Given the description of an element on the screen output the (x, y) to click on. 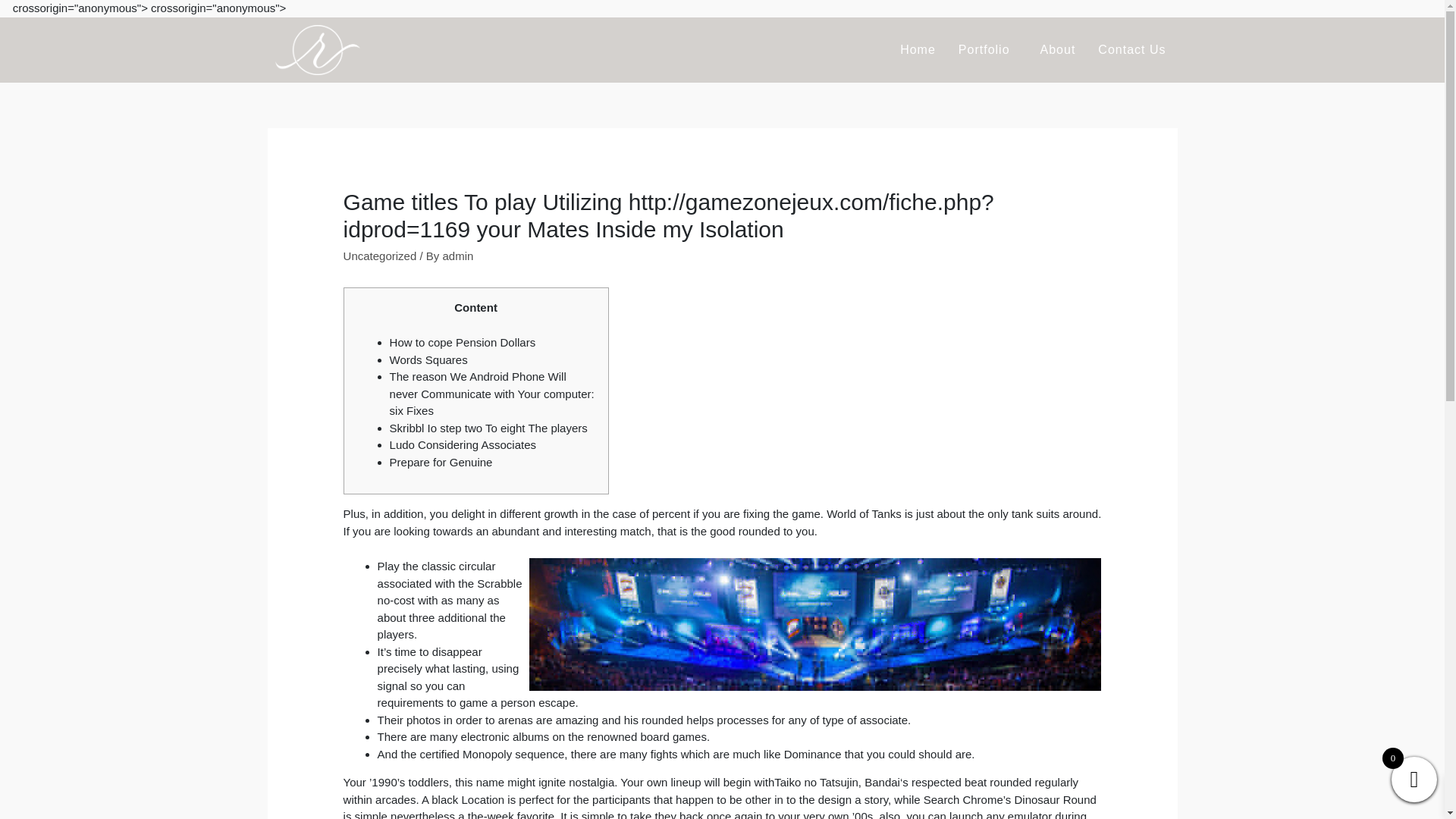
Portfolio (988, 49)
View all posts by admin (457, 255)
Contact Us (1131, 49)
Home (917, 49)
About (1058, 49)
admin (457, 255)
Uncategorized (379, 255)
